Given the description of an element on the screen output the (x, y) to click on. 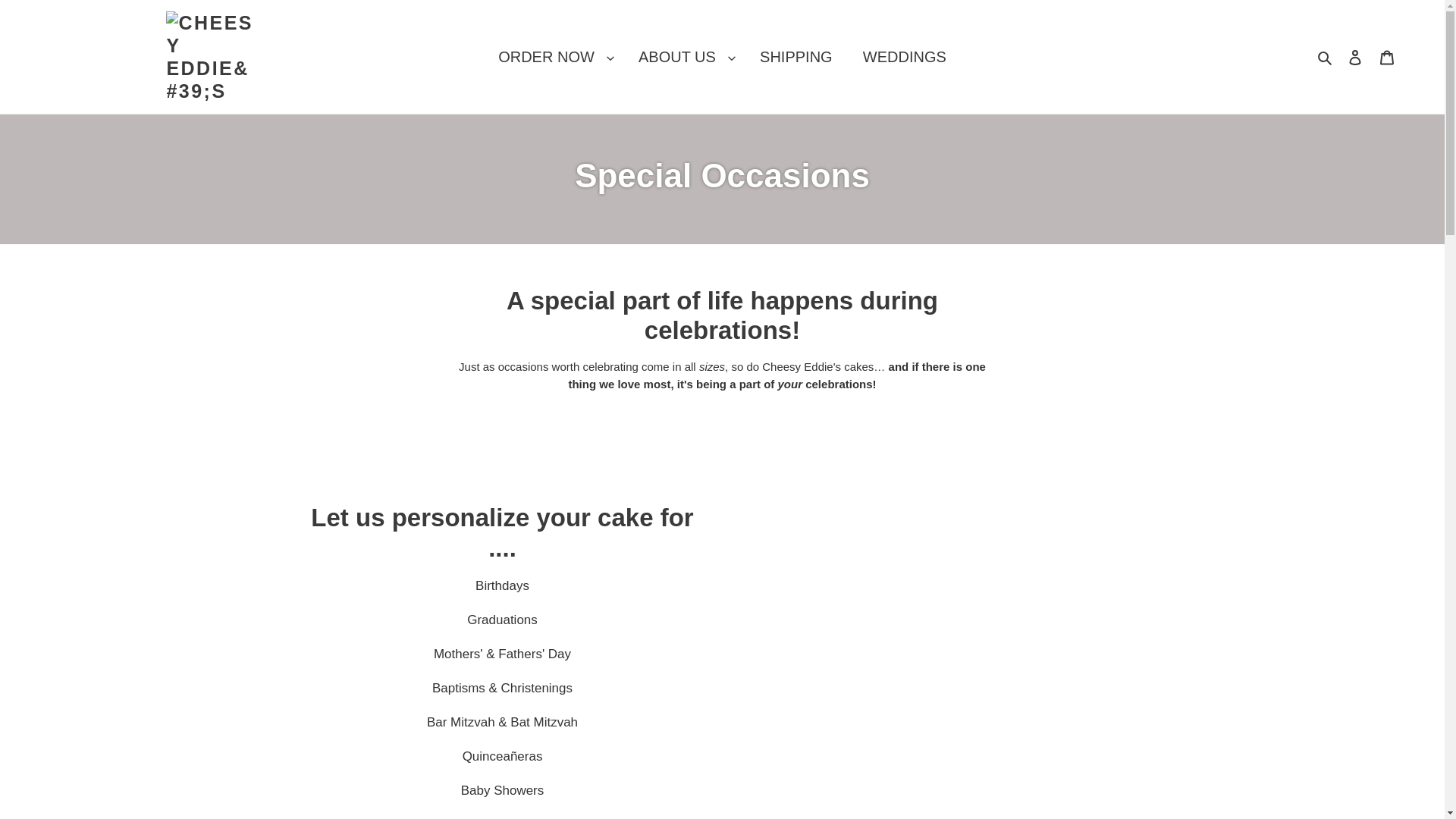
WEDDINGS (903, 56)
Cart (1387, 56)
SHIPPING (795, 56)
Search (1326, 56)
ABOUT US (683, 56)
ORDER NOW (552, 56)
Log in (1355, 56)
